Given the description of an element on the screen output the (x, y) to click on. 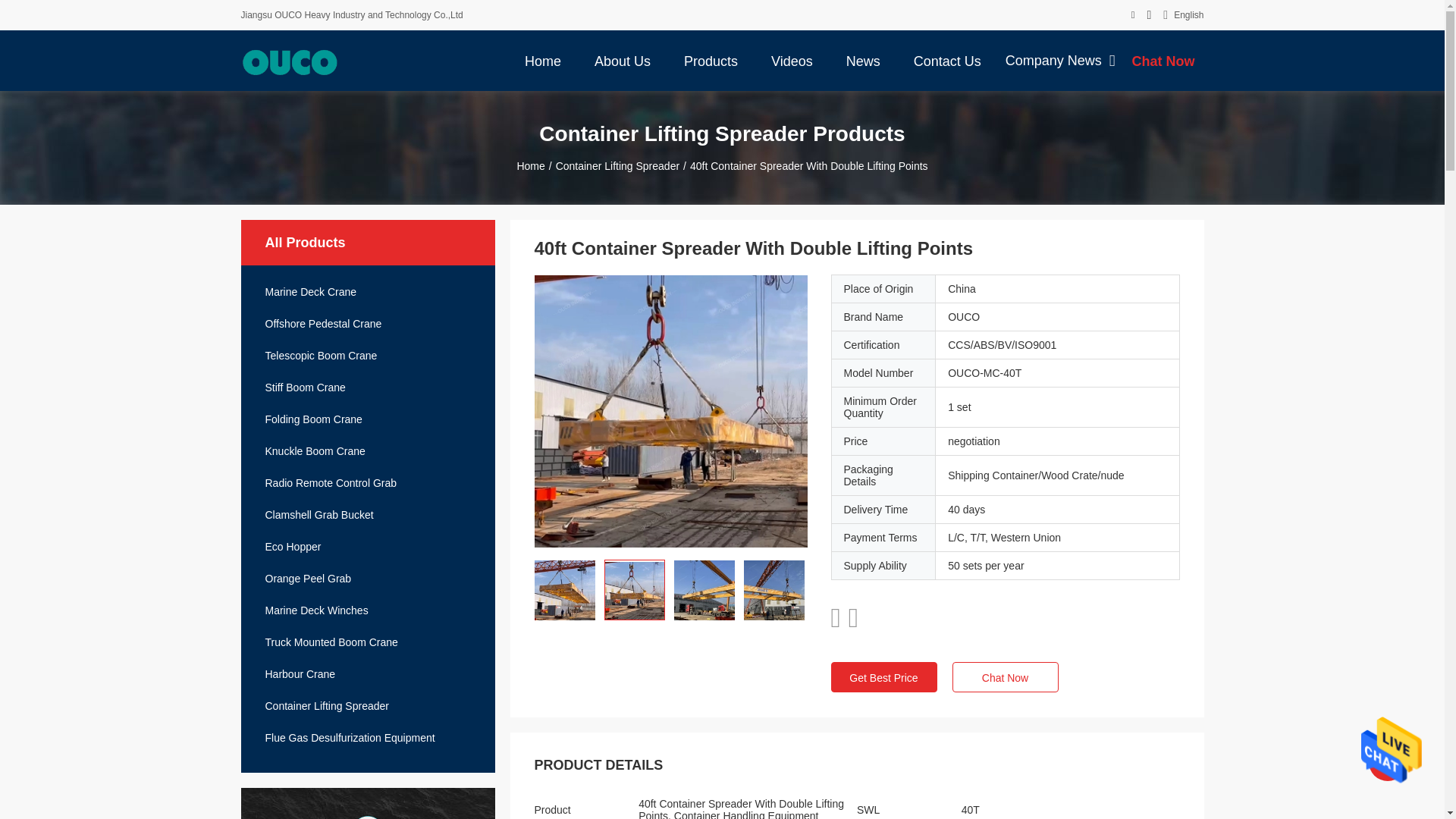
About Us (622, 60)
Home (542, 60)
Products (710, 60)
